Given the description of an element on the screen output the (x, y) to click on. 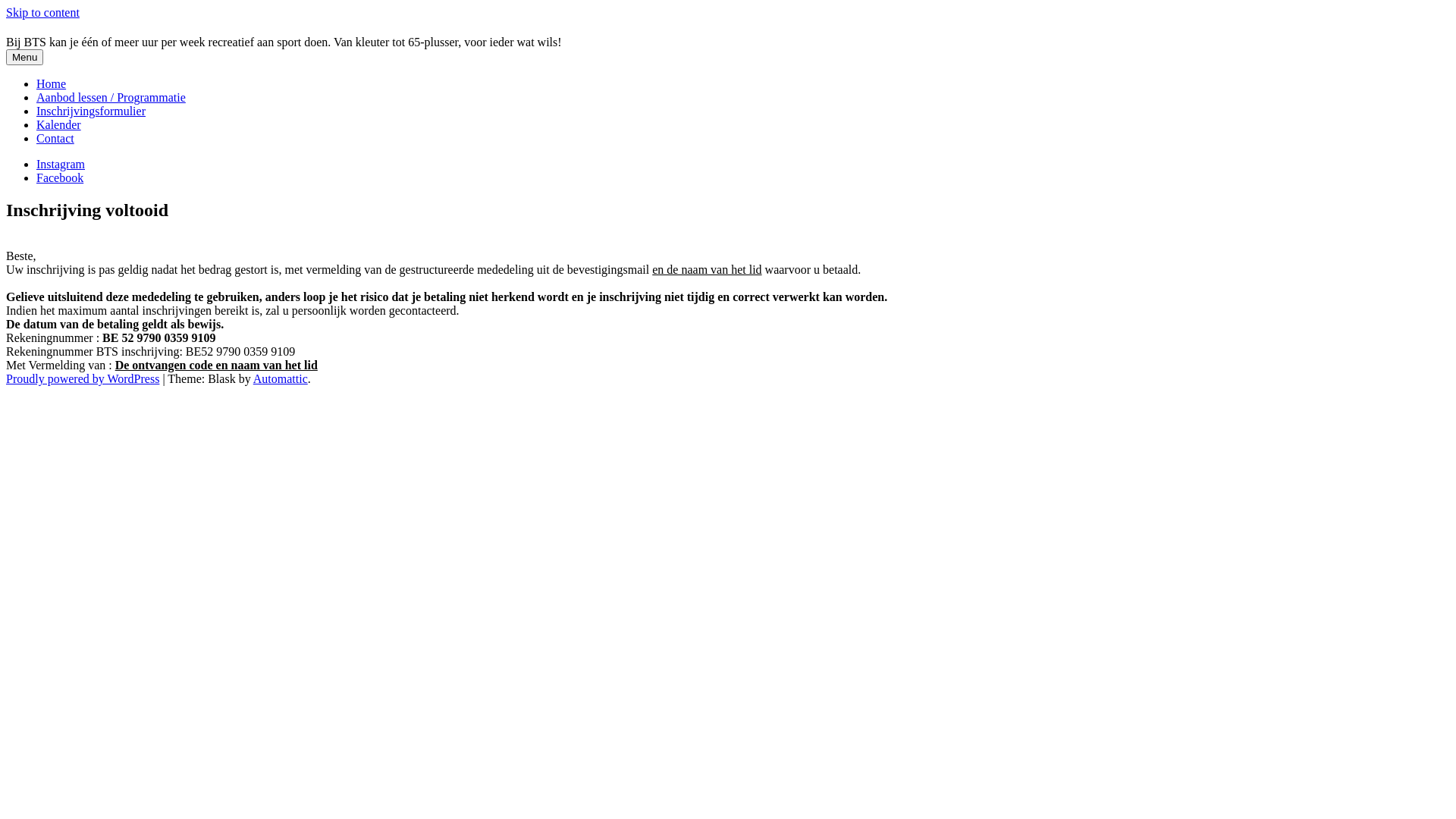
Proudly powered by WordPress Element type: text (82, 378)
Automattic Element type: text (280, 378)
Skip to content Element type: text (42, 12)
Kalender Element type: text (58, 124)
Contact Element type: text (55, 137)
Aanbod lessen / Programmatie Element type: text (110, 97)
Inschrijvingsformulier Element type: text (90, 110)
Facebook Element type: text (59, 177)
Home Element type: text (50, 83)
Instagram Element type: text (60, 163)
Menu Element type: text (24, 57)
